Given the description of an element on the screen output the (x, y) to click on. 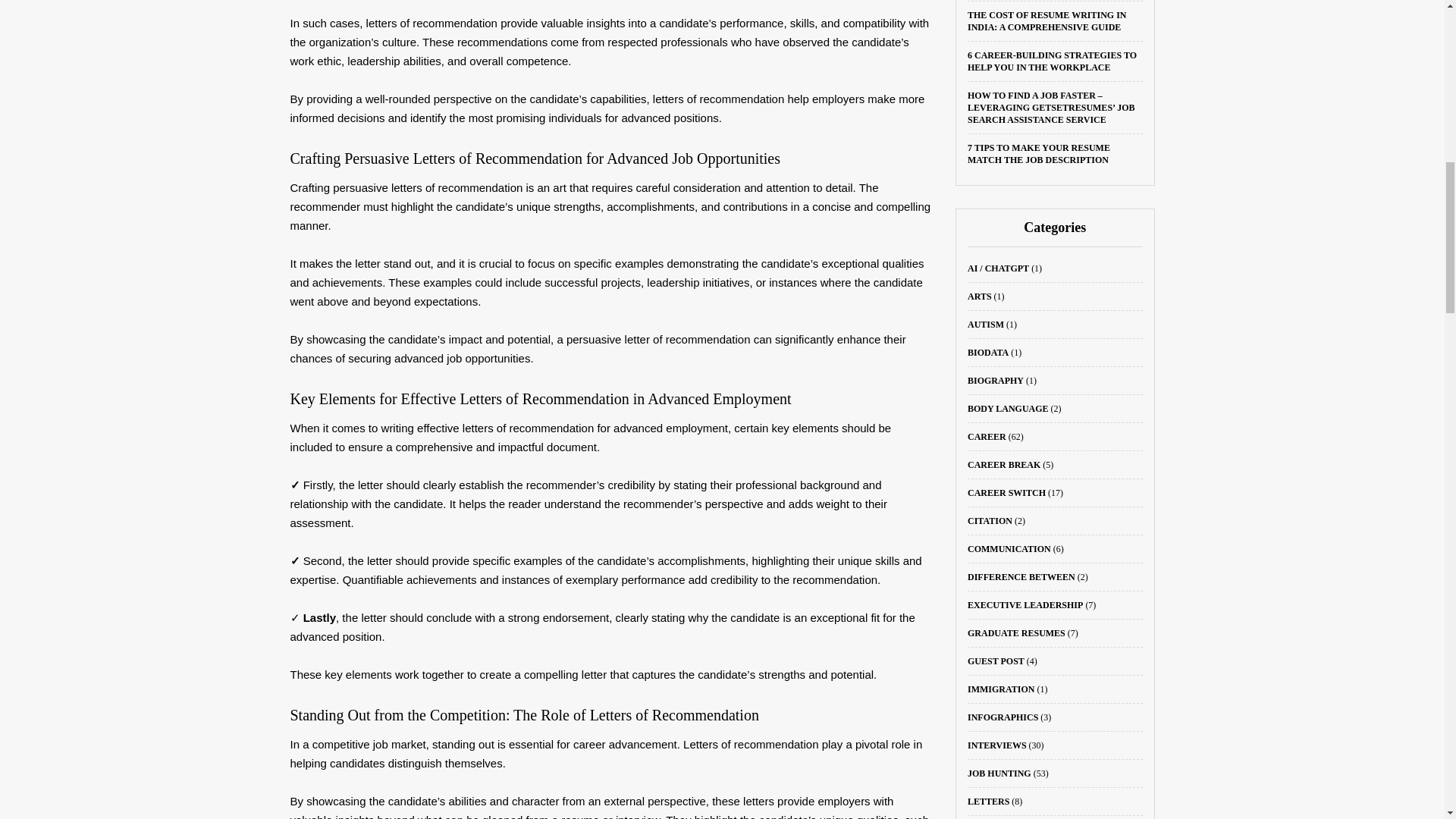
6 CAREER-BUILDING STRATEGIES TO HELP YOU IN THE WORKPLACE (1052, 60)
BODY LANGUAGE (1008, 408)
CITATION (989, 520)
DIFFERENCE BETWEEN (1021, 576)
BIODATA (988, 352)
7 TIPS TO MAKE YOUR RESUME MATCH THE JOB DESCRIPTION (1038, 153)
ARTS (979, 296)
CAREER BREAK (1004, 464)
CAREER (987, 436)
AUTISM (986, 324)
